Given the description of an element on the screen output the (x, y) to click on. 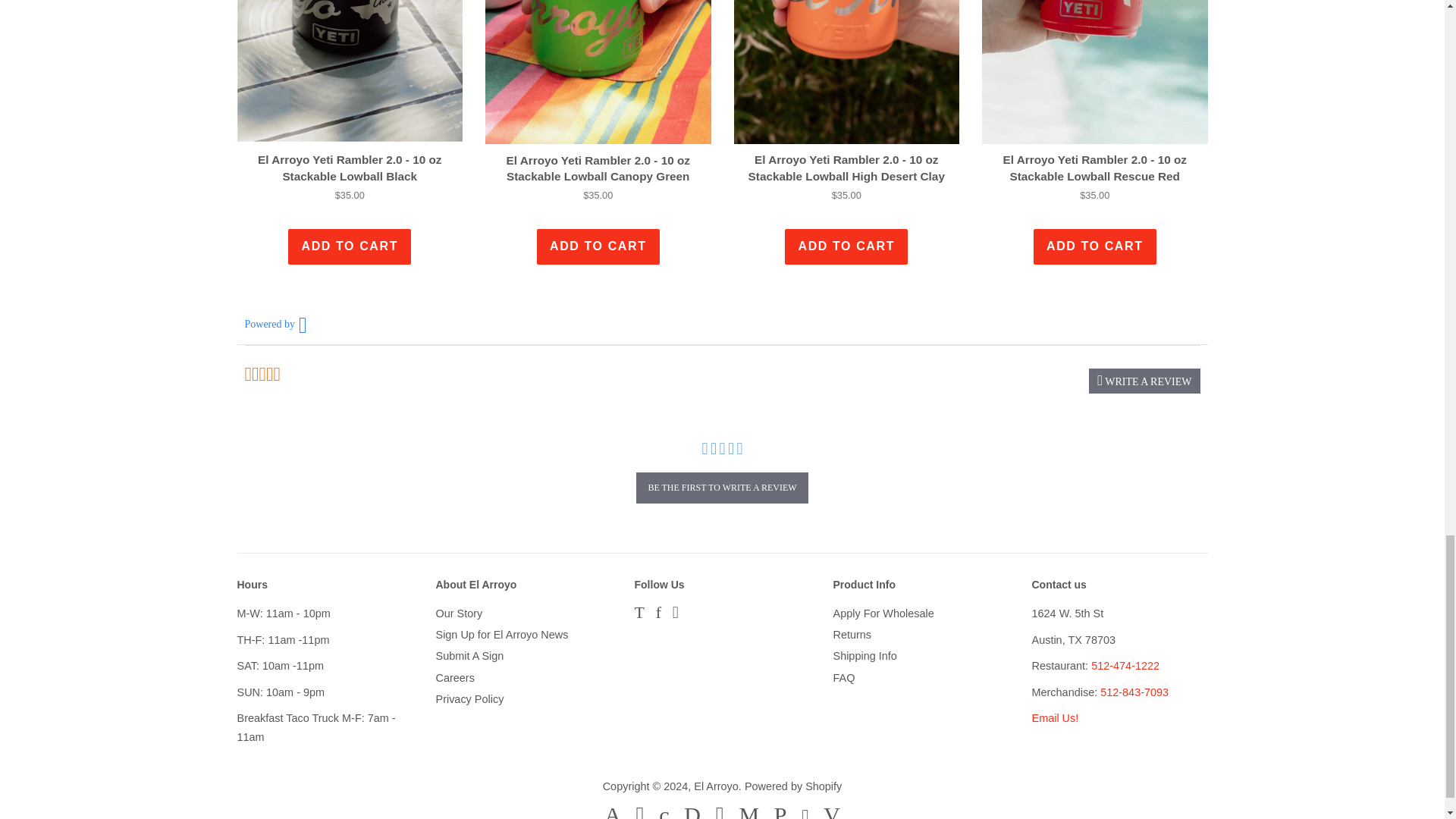
Add to Cart (598, 246)
Add to Cart (845, 246)
Add to Cart (1094, 246)
Add to Cart (349, 246)
tel:512-474-1222 (1124, 665)
tel:5128437093 (1134, 692)
